Given the description of an element on the screen output the (x, y) to click on. 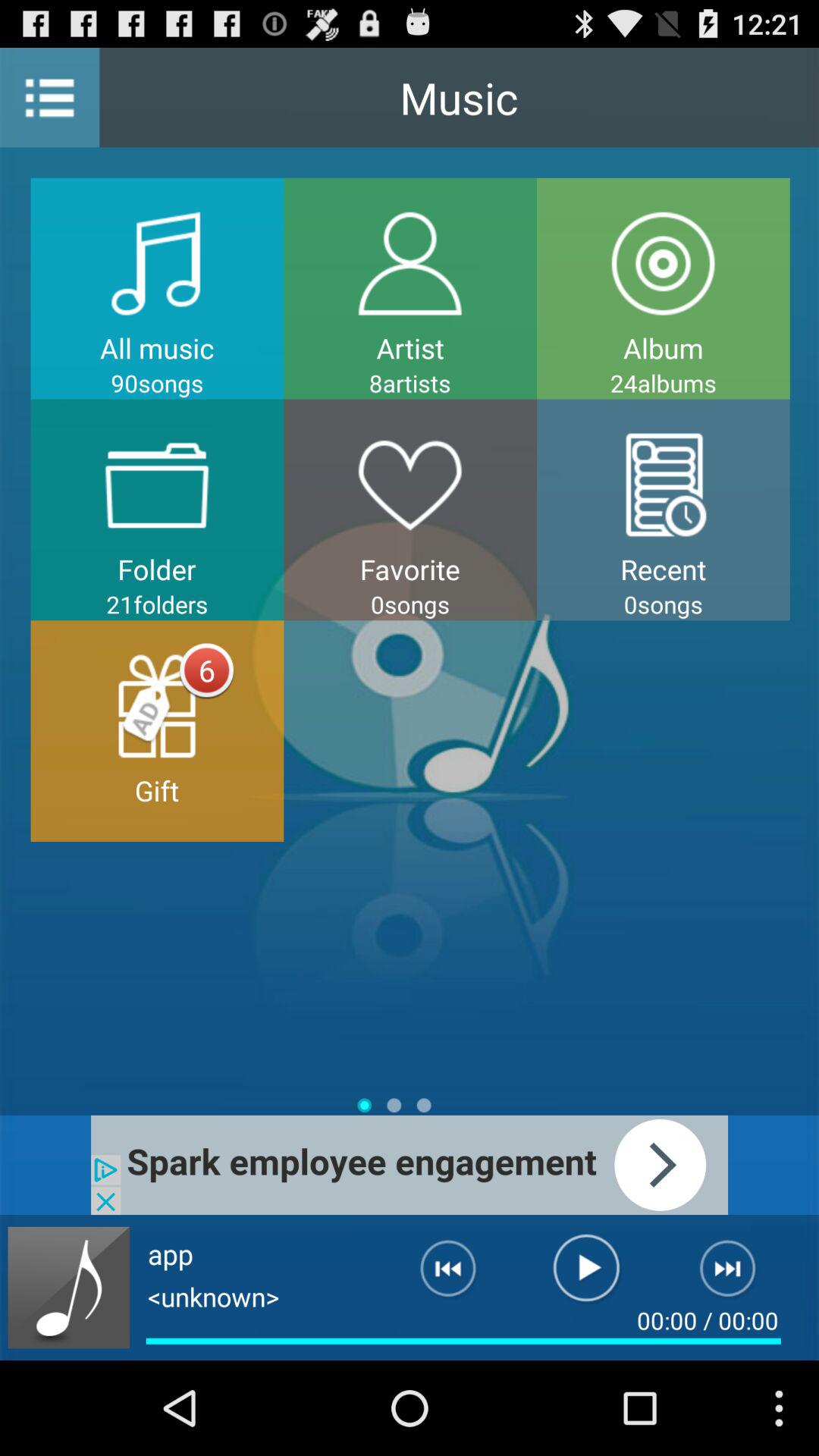
go to play (586, 1274)
